Given the description of an element on the screen output the (x, y) to click on. 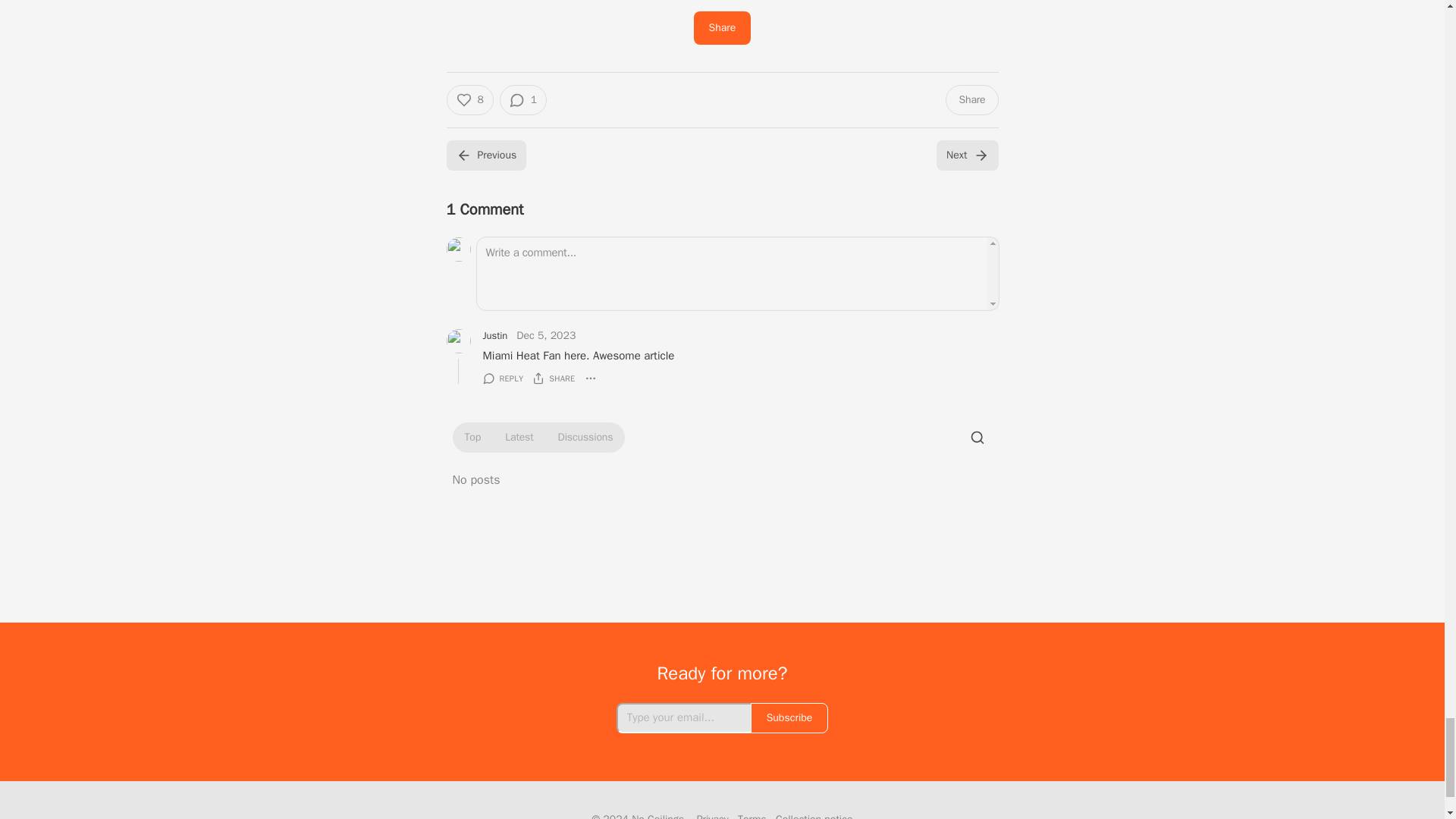
1 (523, 100)
8 (469, 100)
Share (722, 28)
Share (970, 100)
